Given the description of an element on the screen output the (x, y) to click on. 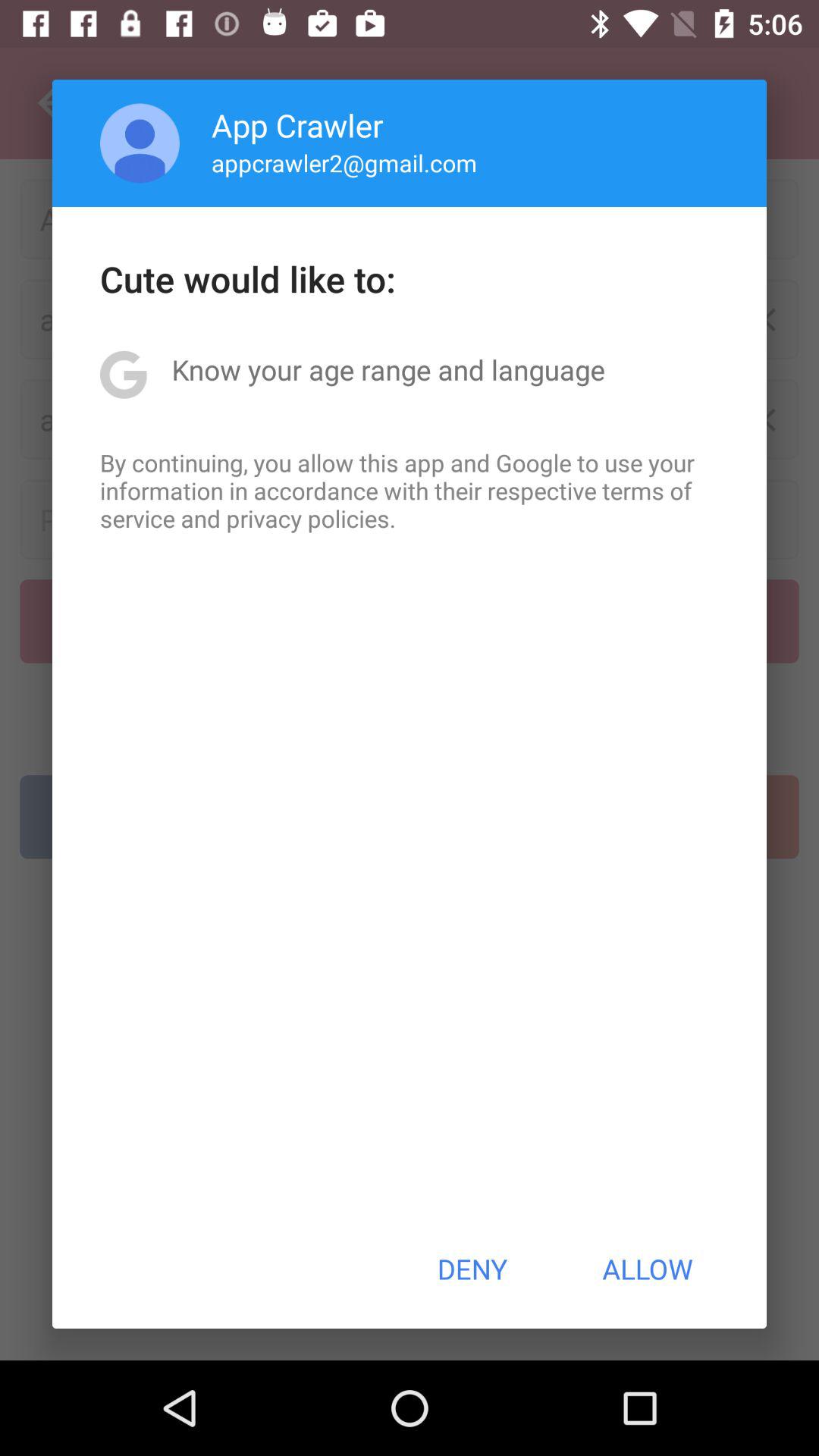
select the app to the left of the app crawler app (139, 143)
